Given the description of an element on the screen output the (x, y) to click on. 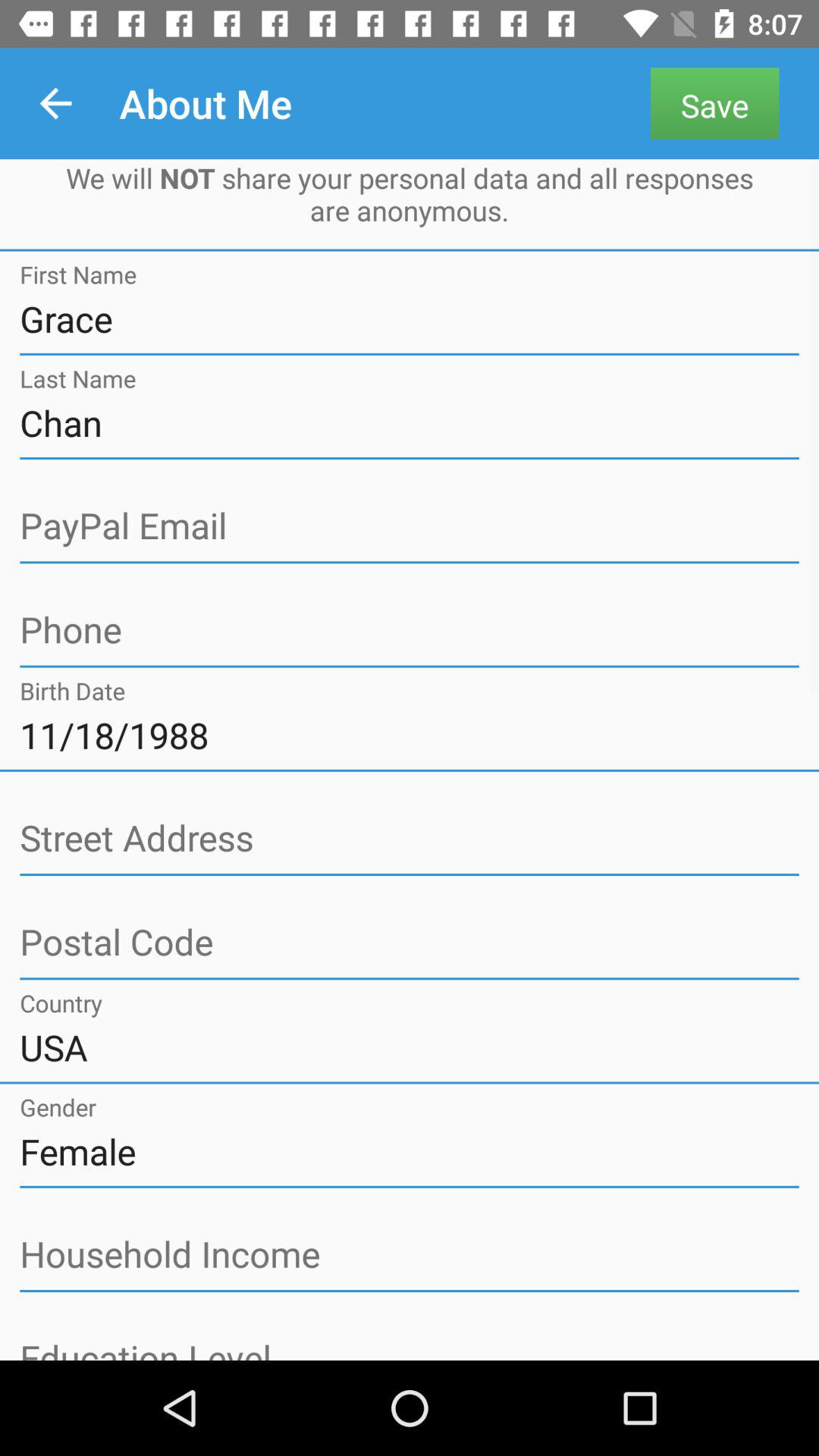
select the postal code (409, 943)
select the field paypal email (409, 526)
select a text field with a text phone on a page (409, 631)
select usa which is under country on the page (409, 1047)
go to chan (409, 422)
